Given the description of an element on the screen output the (x, y) to click on. 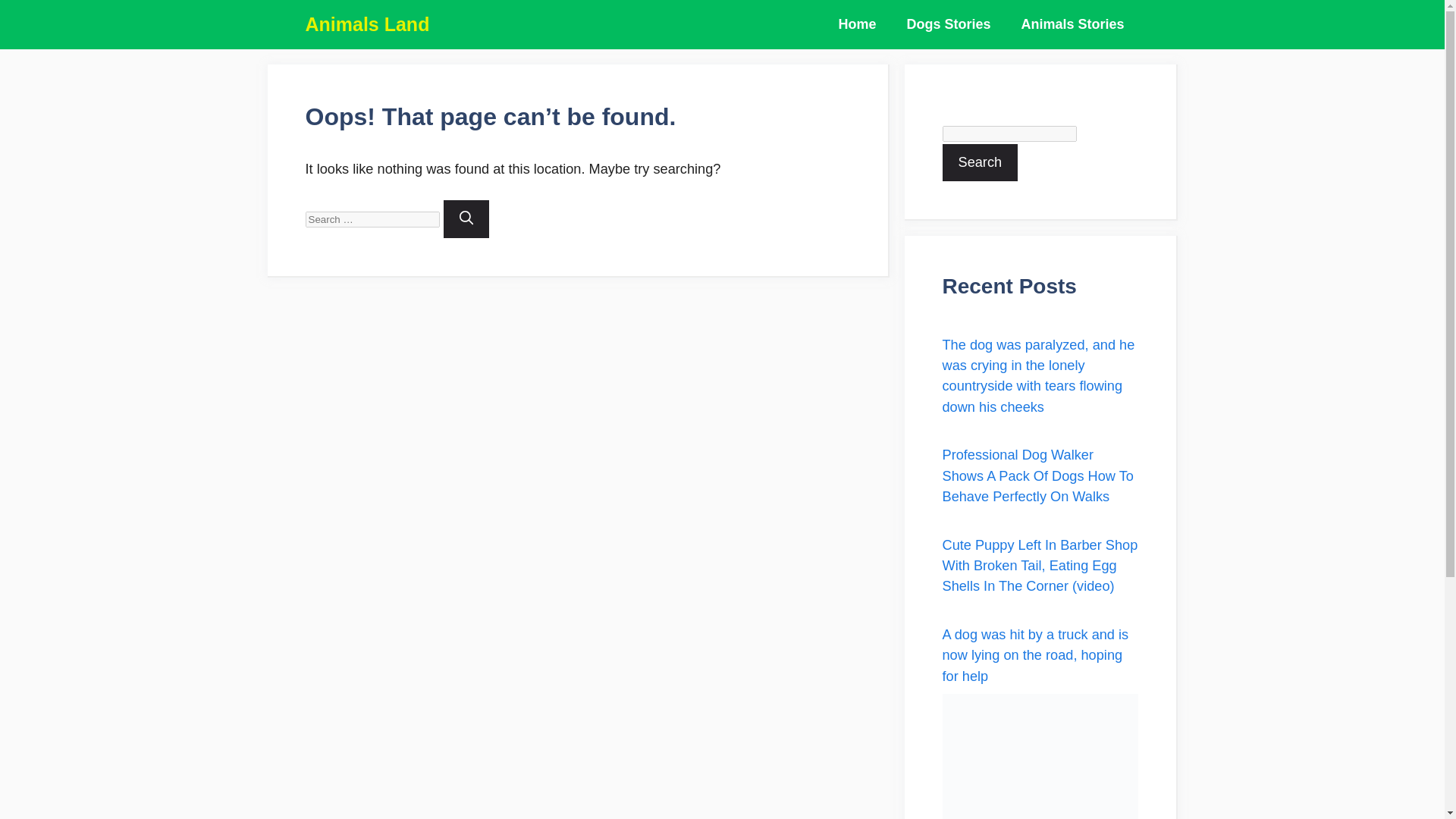
Animals Land (366, 24)
Dogs Stories (948, 24)
Search (979, 162)
Animals Stories (1072, 24)
Home (856, 24)
Search for: (371, 219)
